Given the description of an element on the screen output the (x, y) to click on. 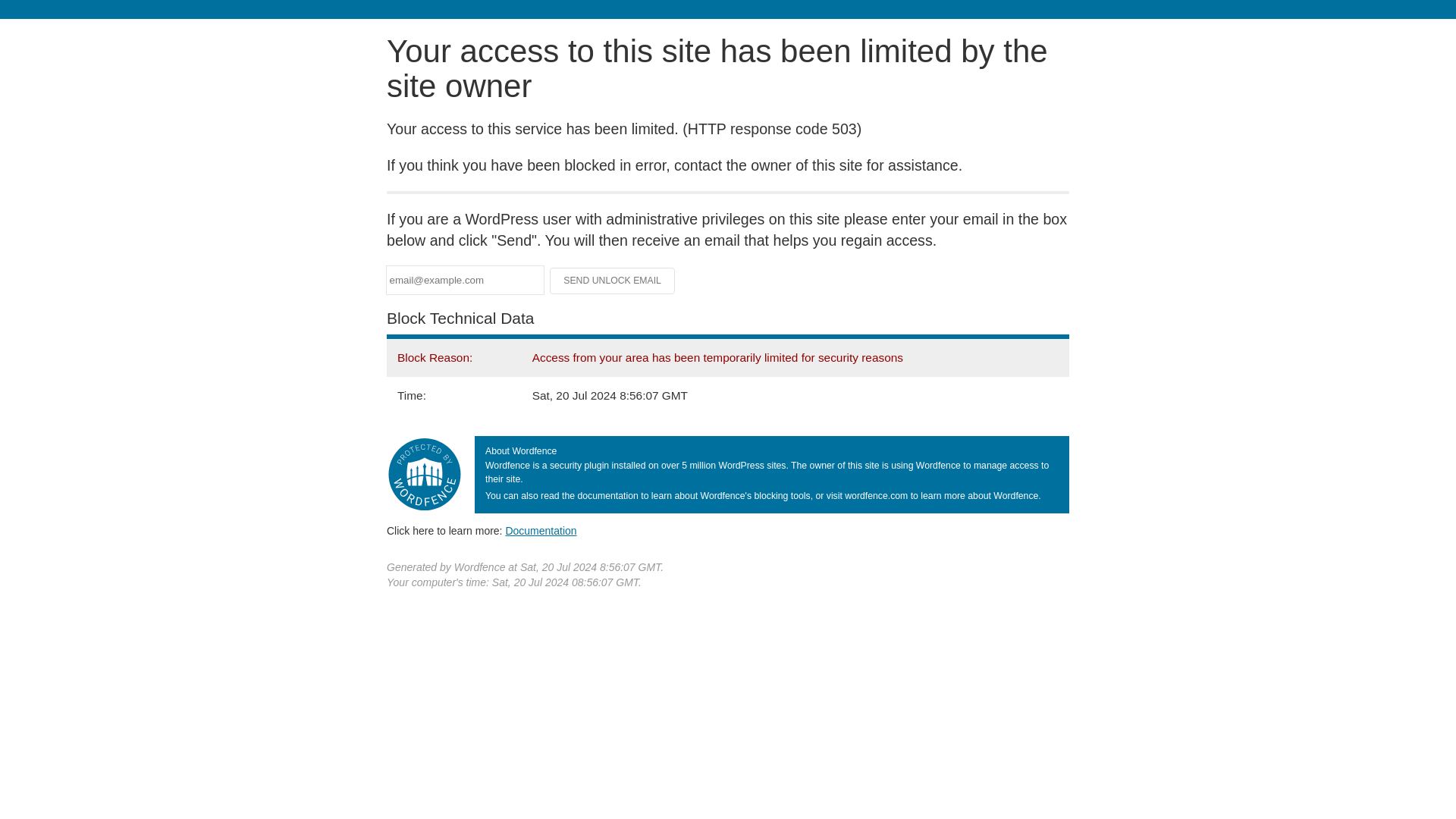
Send Unlock Email (612, 280)
Send Unlock Email (612, 280)
